Given the description of an element on the screen output the (x, y) to click on. 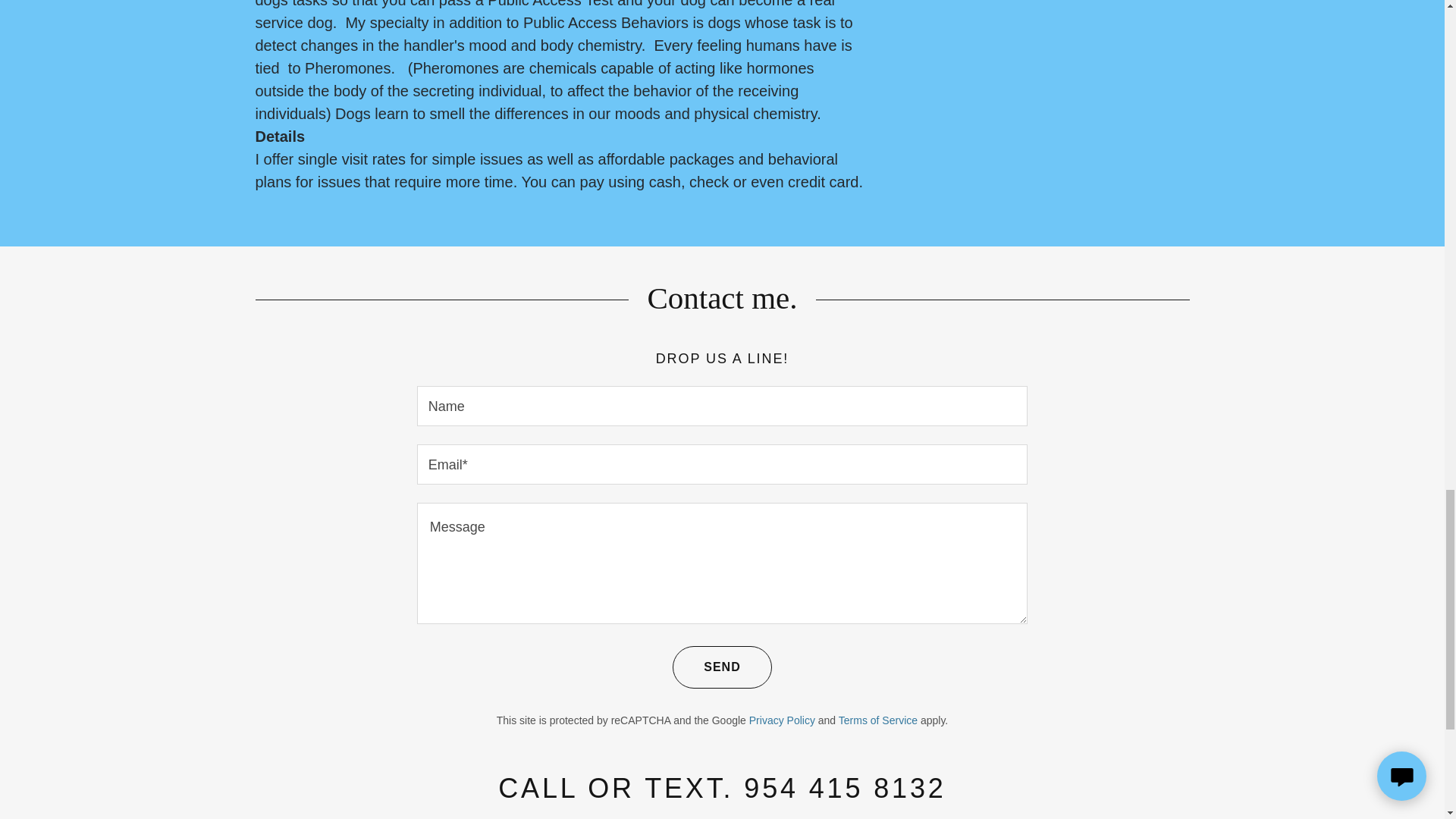
Privacy Policy (782, 720)
SEND (721, 667)
Terms of Service (877, 720)
